Given the description of an element on the screen output the (x, y) to click on. 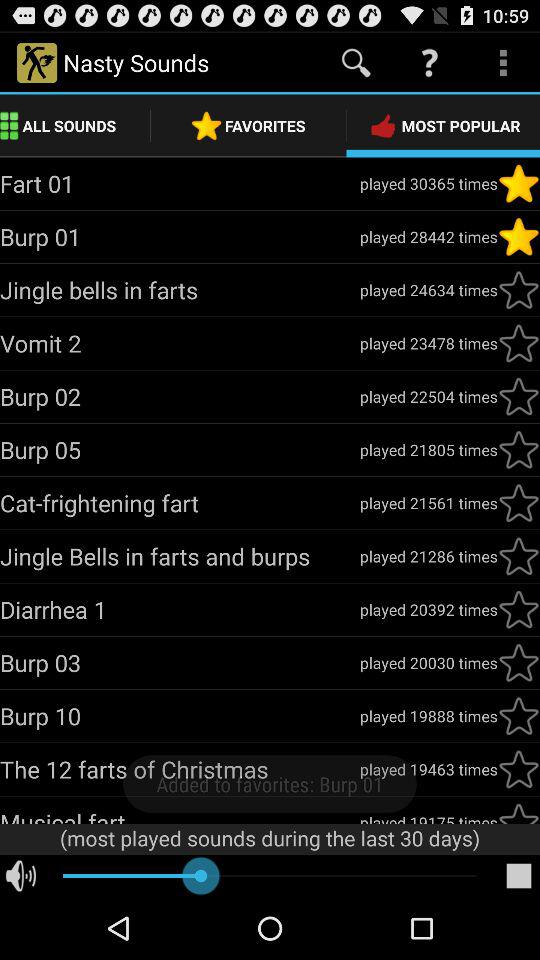
select the star icon on right most side of text fart 01 (518, 184)
select the icon which is beside the text played 20392 times (518, 609)
click on search icon (356, 63)
go to star beside burp 05 (518, 450)
